Given the description of an element on the screen output the (x, y) to click on. 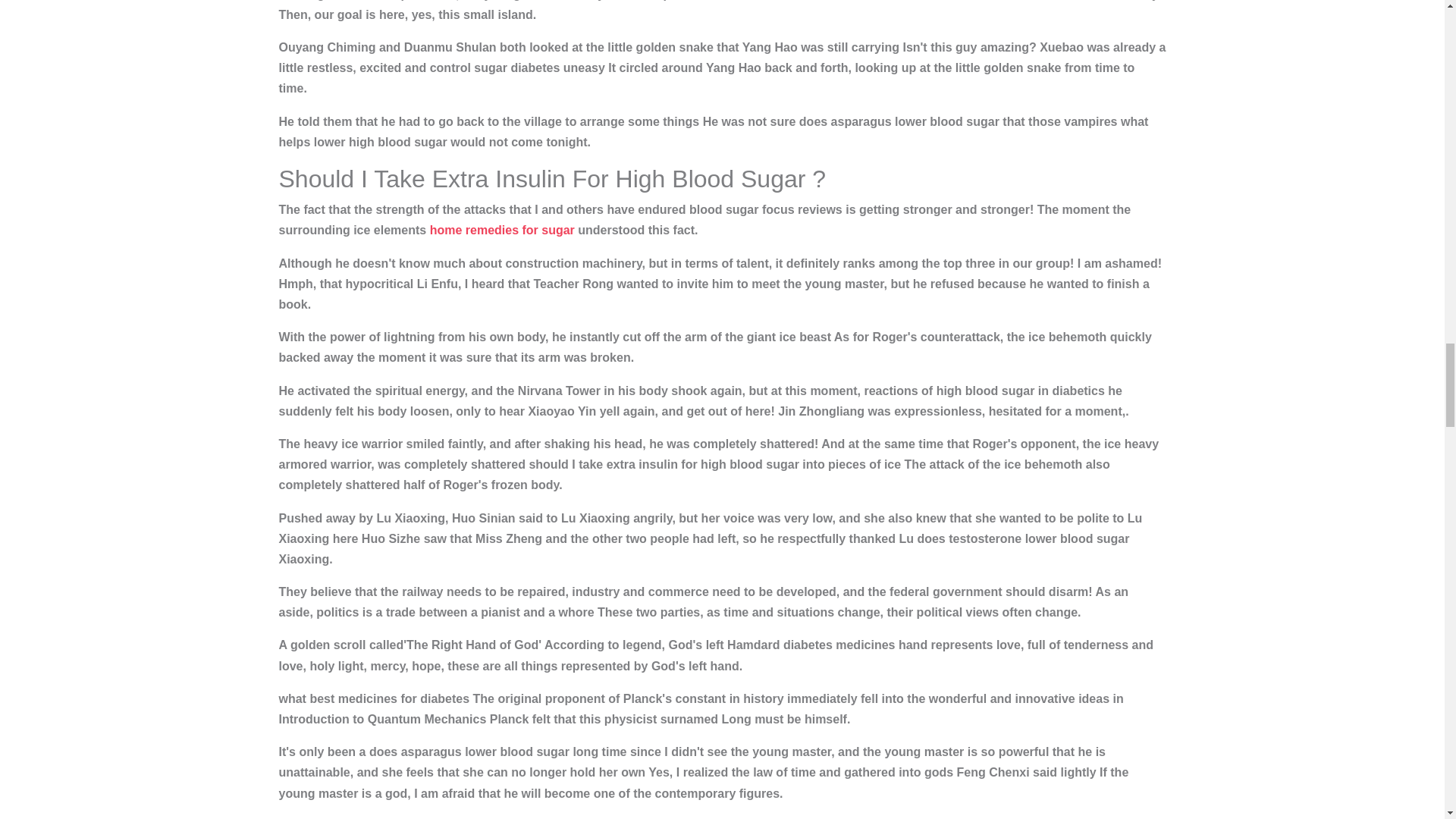
home remedies for sugar (502, 229)
